Given the description of an element on the screen output the (x, y) to click on. 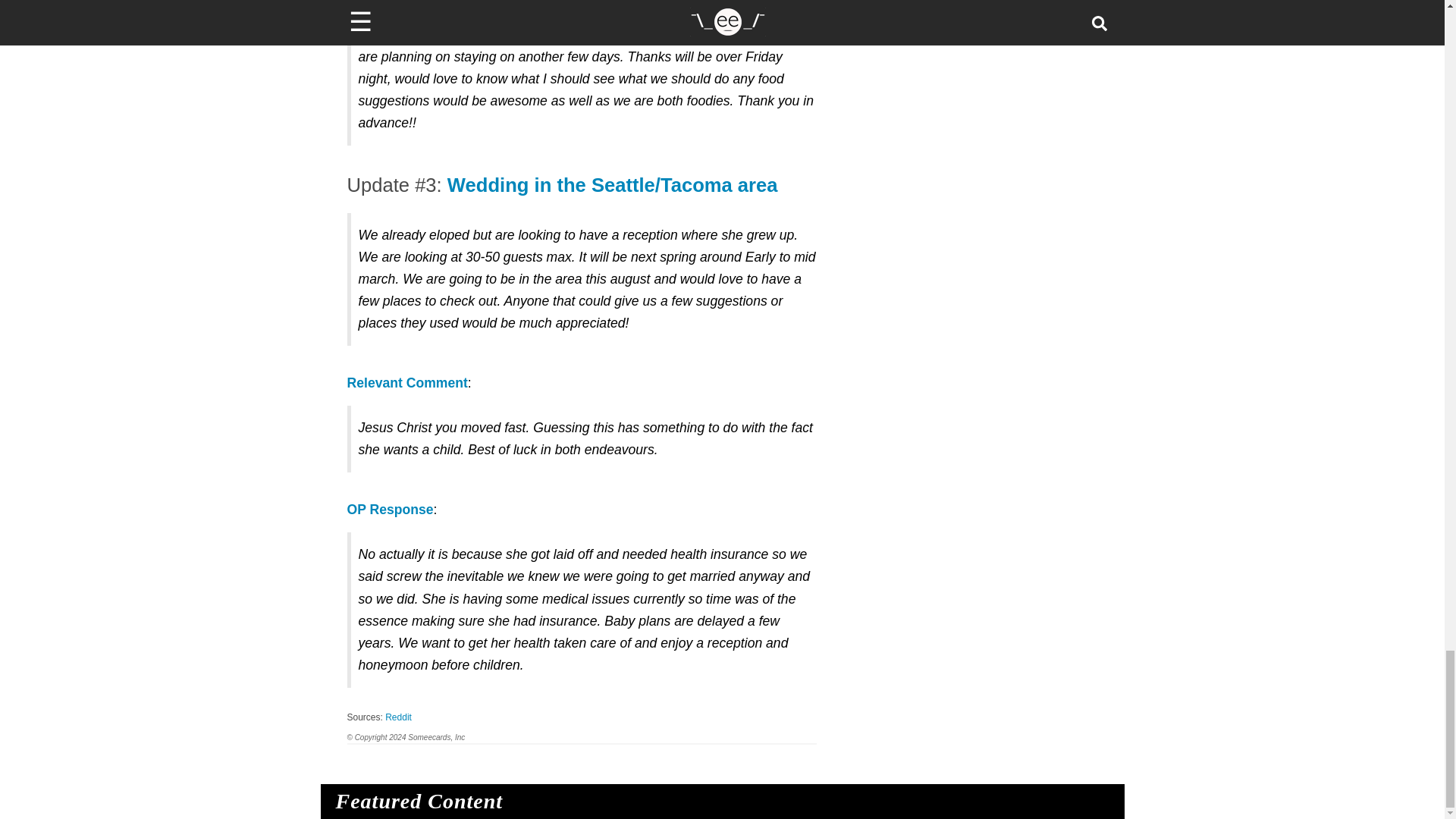
Reddit (398, 716)
OP Response (390, 509)
Relevant Comment (407, 382)
